Given the description of an element on the screen output the (x, y) to click on. 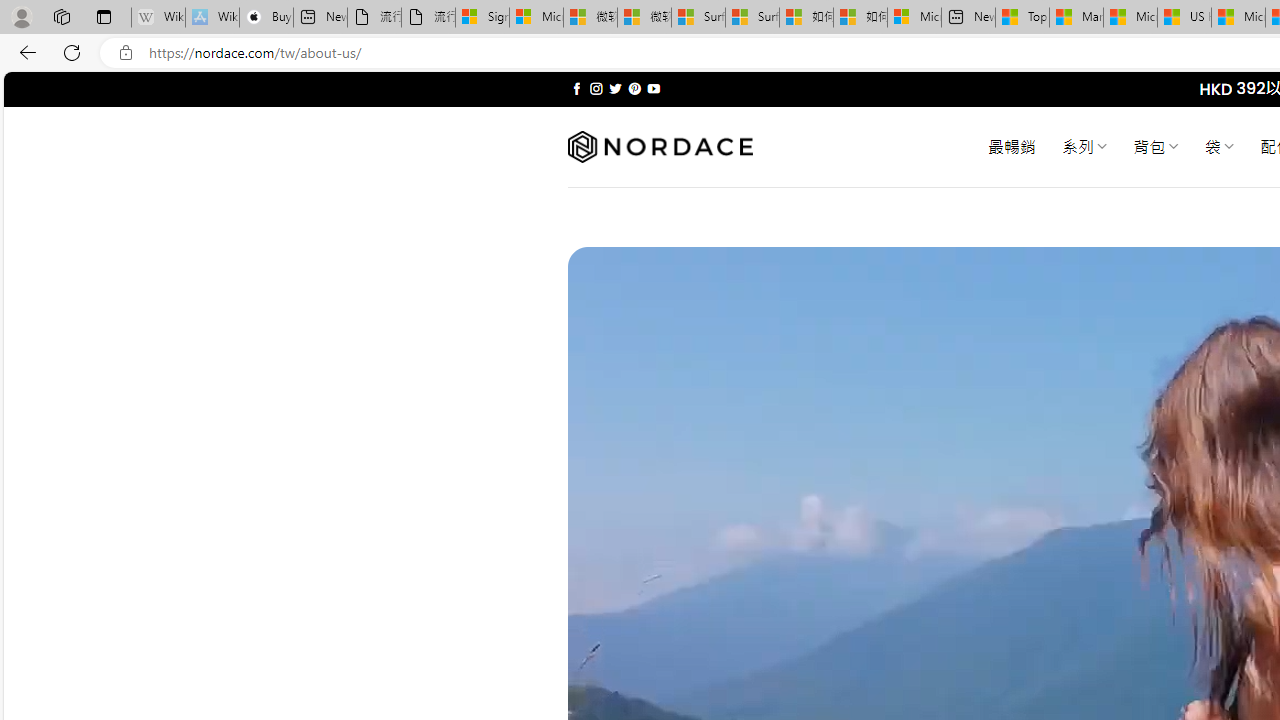
Follow on Instagram (596, 88)
